Given the description of an element on the screen output the (x, y) to click on. 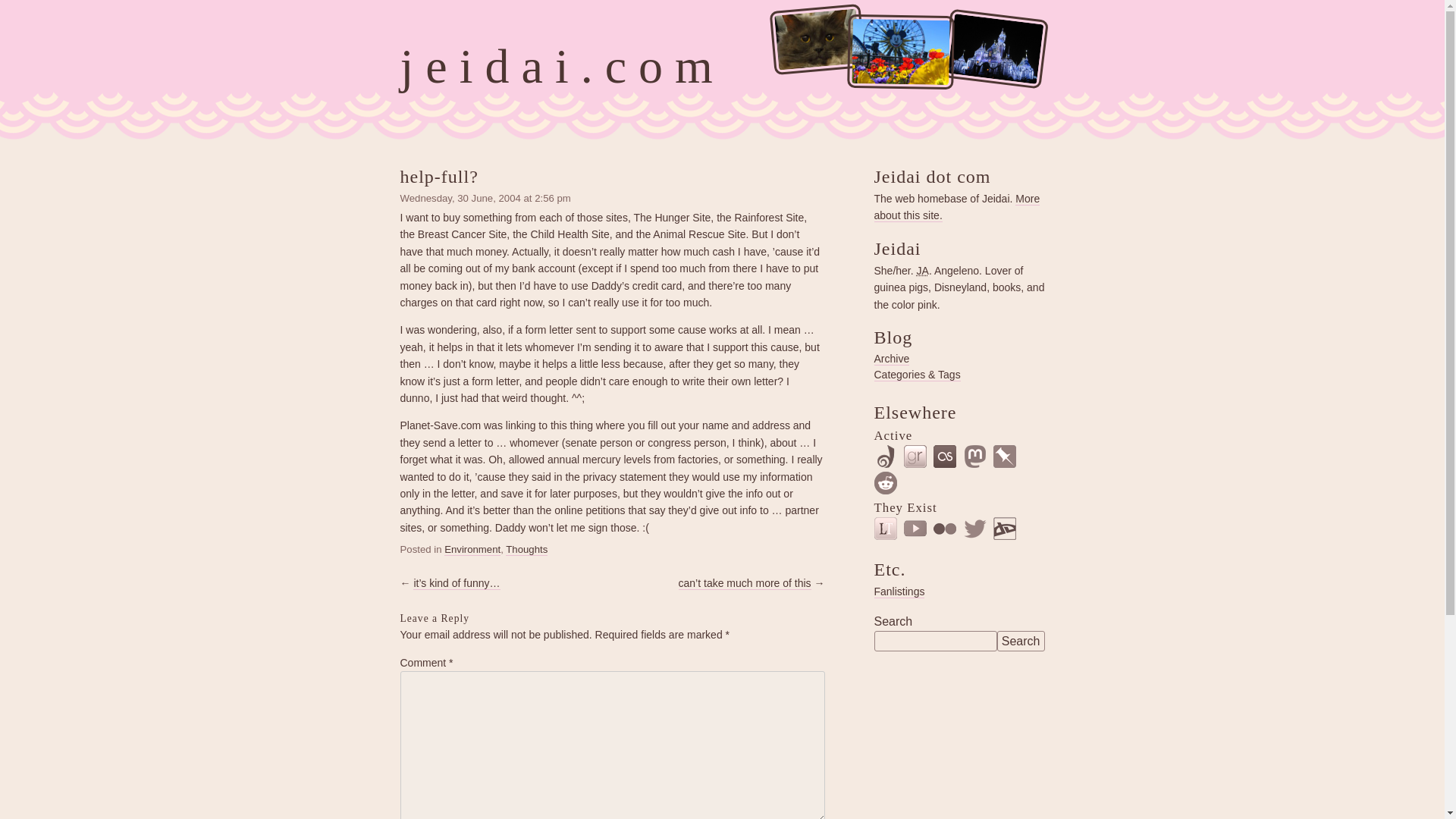
Fanlistings (898, 591)
DeviantArt (1004, 527)
Last.fm (944, 456)
Search (1021, 640)
Dreamwidth (884, 456)
Mastodon (975, 456)
Archive (890, 358)
Twitter (975, 527)
More about this site. (956, 206)
Thoughts (526, 549)
